Given the description of an element on the screen output the (x, y) to click on. 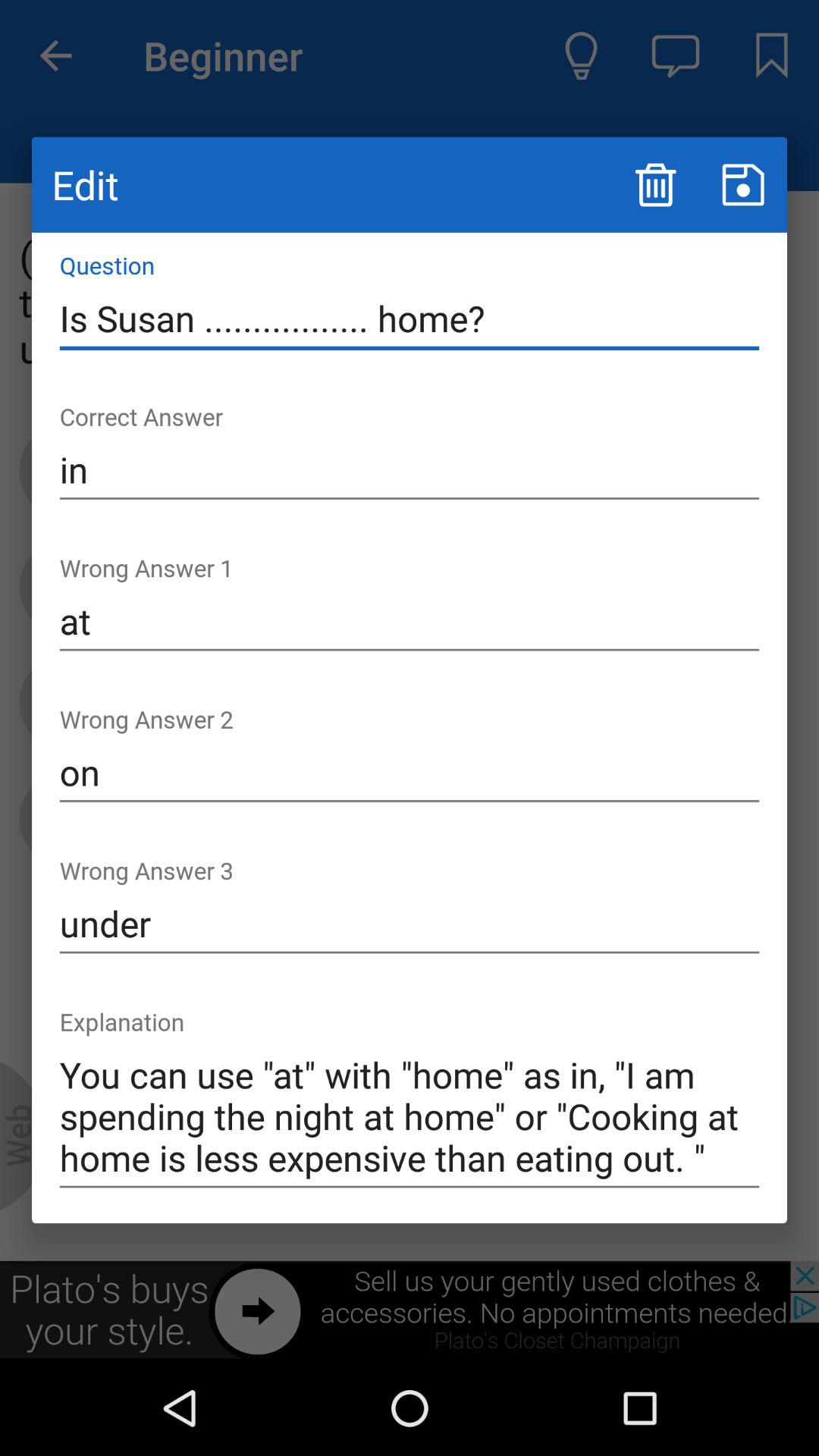
launch item below the at item (409, 772)
